Given the description of an element on the screen output the (x, y) to click on. 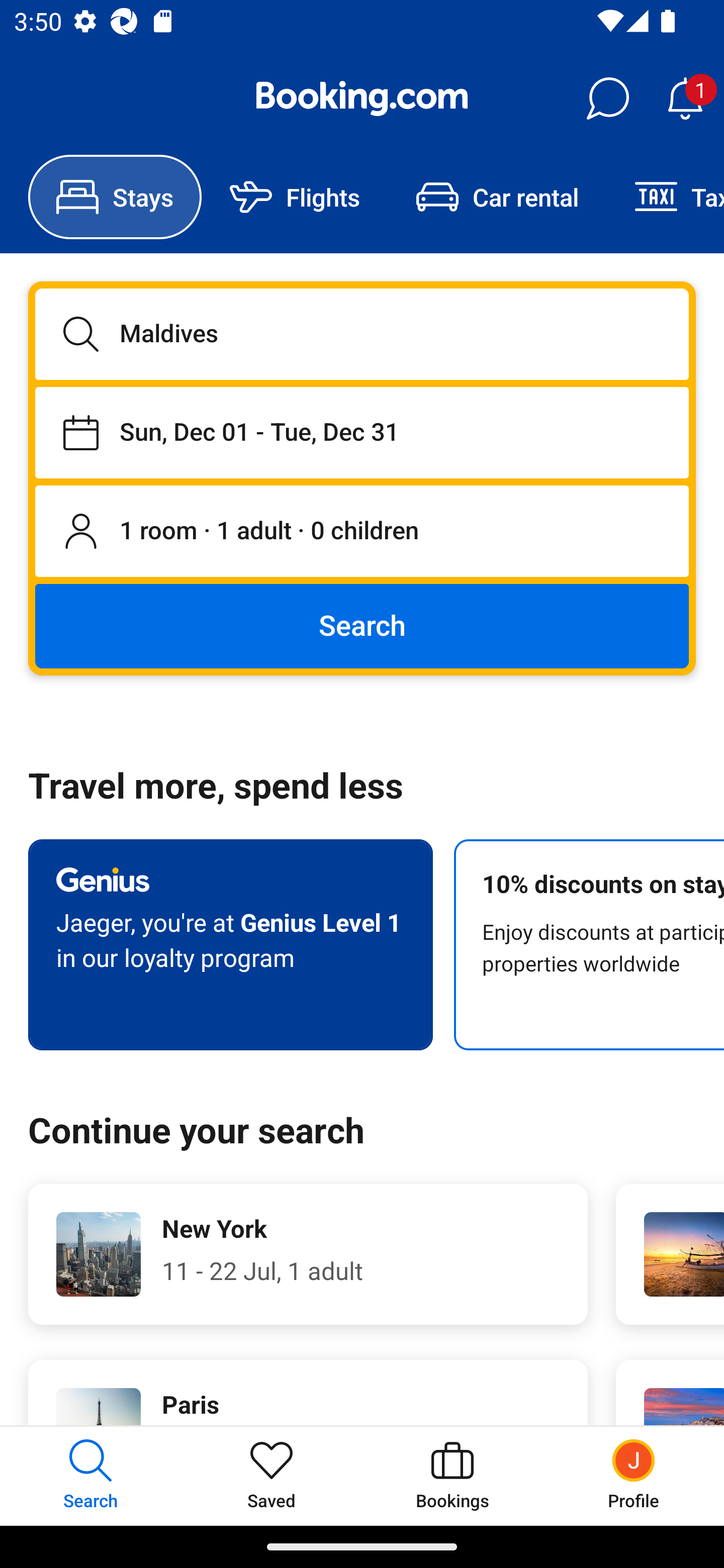
Messages (607, 98)
Notifications (685, 98)
Stays (114, 197)
Flights (294, 197)
Car rental (497, 197)
Taxi (665, 197)
Maldives (361, 333)
Staying from Sun, Dec 01 until Tue, Dec 31 (361, 432)
1 room, 1 adult, 0 children (361, 531)
Search (361, 625)
New York 11 - 22 Jul, 1 adult (307, 1253)
Saved (271, 1475)
Bookings (452, 1475)
Profile (633, 1475)
